Given the description of an element on the screen output the (x, y) to click on. 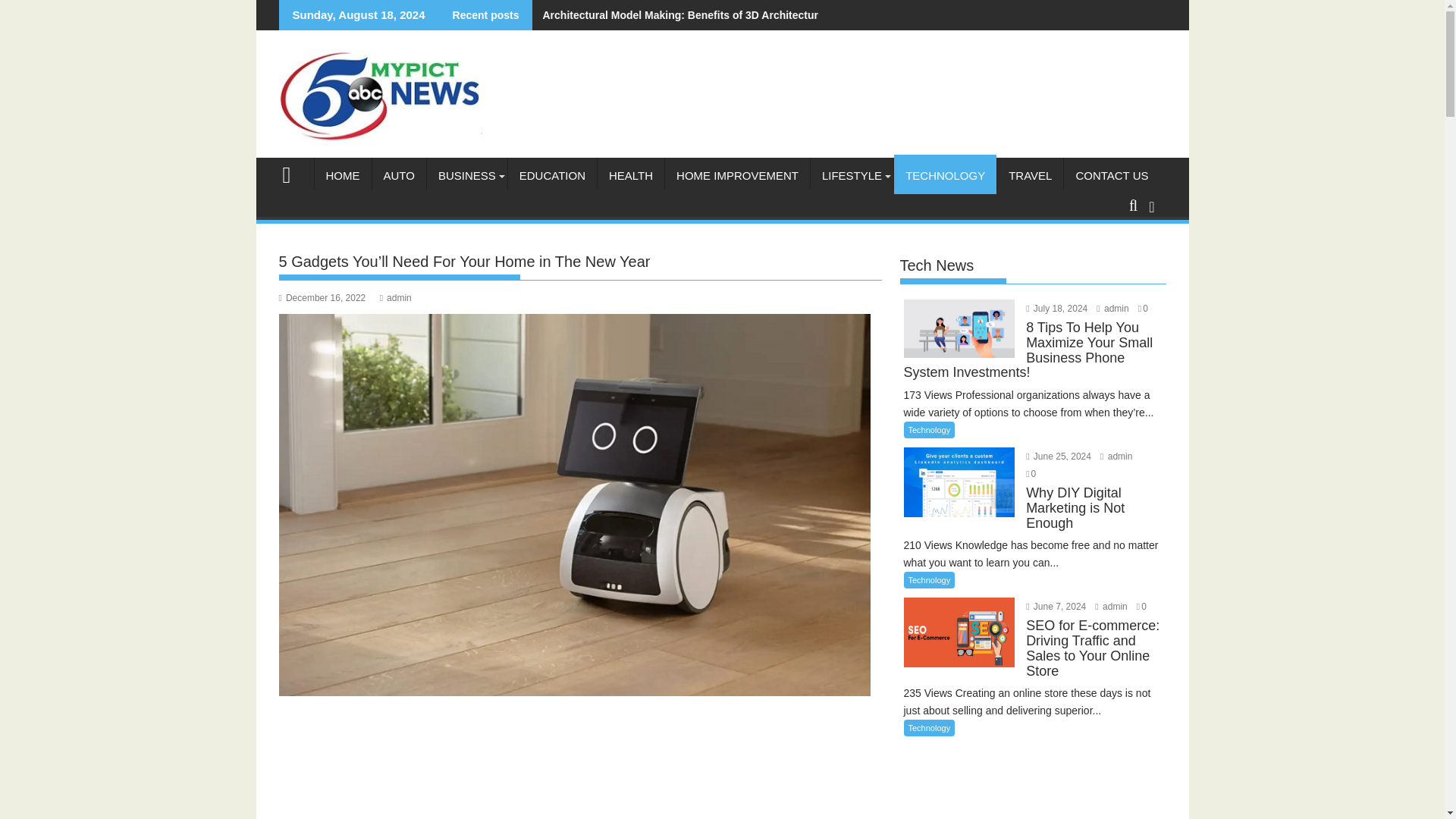
AUTO (398, 176)
BUSINESS (466, 176)
CONTACT US (1111, 176)
TECHNOLOGY (944, 176)
admin (396, 297)
EDUCATION (552, 176)
HEALTH (629, 176)
